Given the description of an element on the screen output the (x, y) to click on. 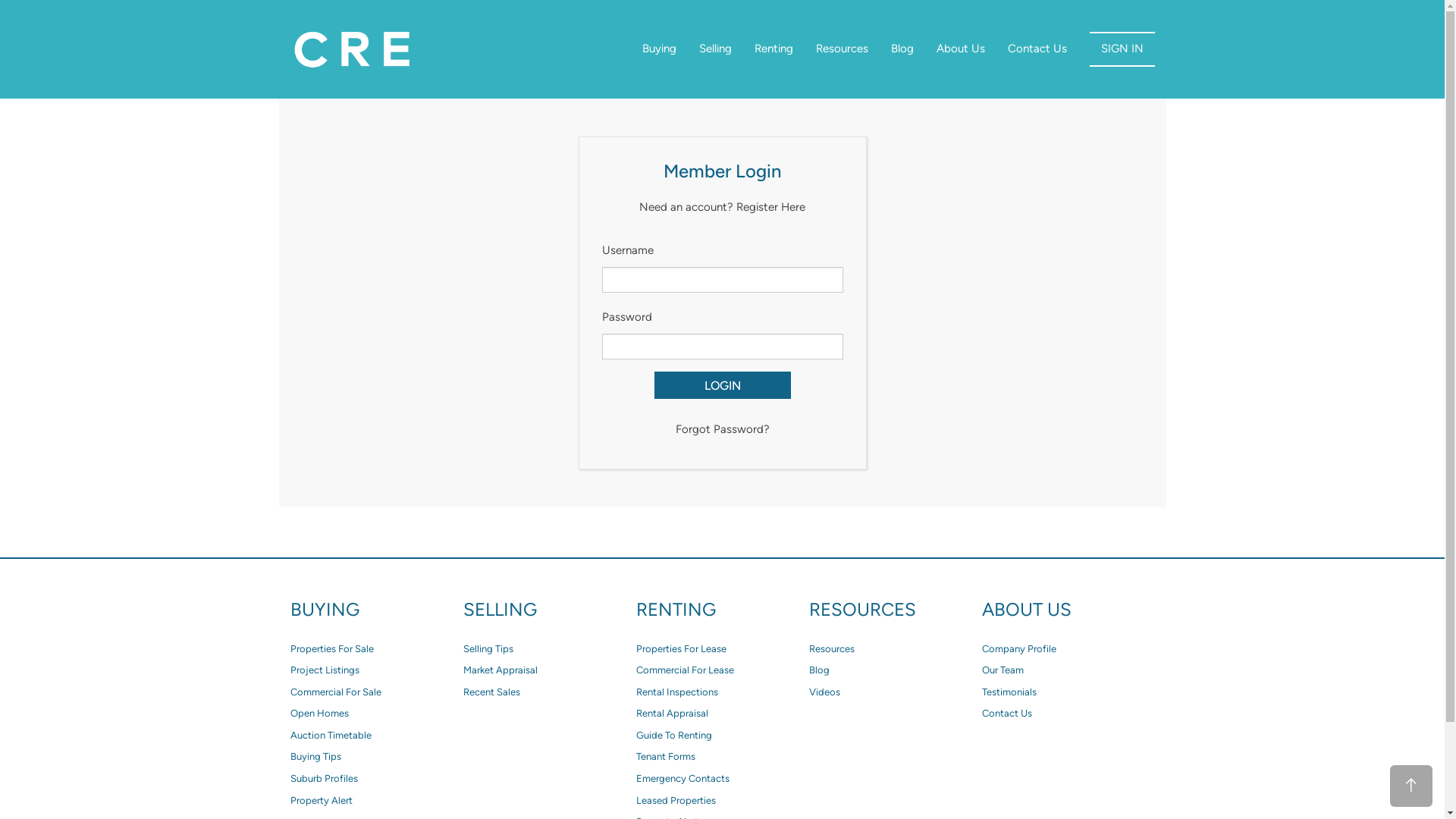
Suburb Profiles Element type: text (375, 778)
Forgot Password? Element type: text (721, 429)
Selling Tips Element type: text (548, 649)
SELLING Element type: text (548, 609)
Open Homes Element type: text (375, 713)
Resources Element type: text (894, 649)
Blog Element type: text (902, 48)
Guide To Renting Element type: text (721, 735)
Buying Element type: text (658, 48)
SIGN IN Element type: text (1121, 48)
Properties For Lease Element type: text (721, 649)
ABOUT US Element type: text (1067, 609)
LOGIN Element type: text (721, 384)
Tenant Forms Element type: text (721, 756)
Emergency Contacts Element type: text (721, 778)
Auction Timetable Element type: text (375, 735)
Leased Properties Element type: text (721, 800)
Property Alert Element type: text (375, 800)
Buying Tips Element type: text (375, 756)
Blog Element type: text (894, 670)
Rental Inspections Element type: text (721, 692)
Commercial For Lease Element type: text (721, 670)
Register Here Element type: text (770, 206)
Project Listings Element type: text (375, 670)
Resources Element type: text (840, 48)
RESOURCES Element type: text (894, 609)
Renting Element type: text (773, 48)
Selling Element type: text (714, 48)
Commercial For Sale Element type: text (375, 692)
Contact Us Element type: text (1067, 713)
Testimonials Element type: text (1067, 692)
About Us Element type: text (960, 48)
RENTING Element type: text (721, 609)
BUYING Element type: text (375, 609)
Contact Us Element type: text (1037, 48)
Our Team Element type: text (1067, 670)
Recent Sales Element type: text (548, 692)
Videos Element type: text (894, 692)
Rental Appraisal Element type: text (721, 713)
Properties For Sale Element type: text (375, 649)
Market Appraisal Element type: text (548, 670)
Company Profile Element type: text (1067, 649)
